Given the description of an element on the screen output the (x, y) to click on. 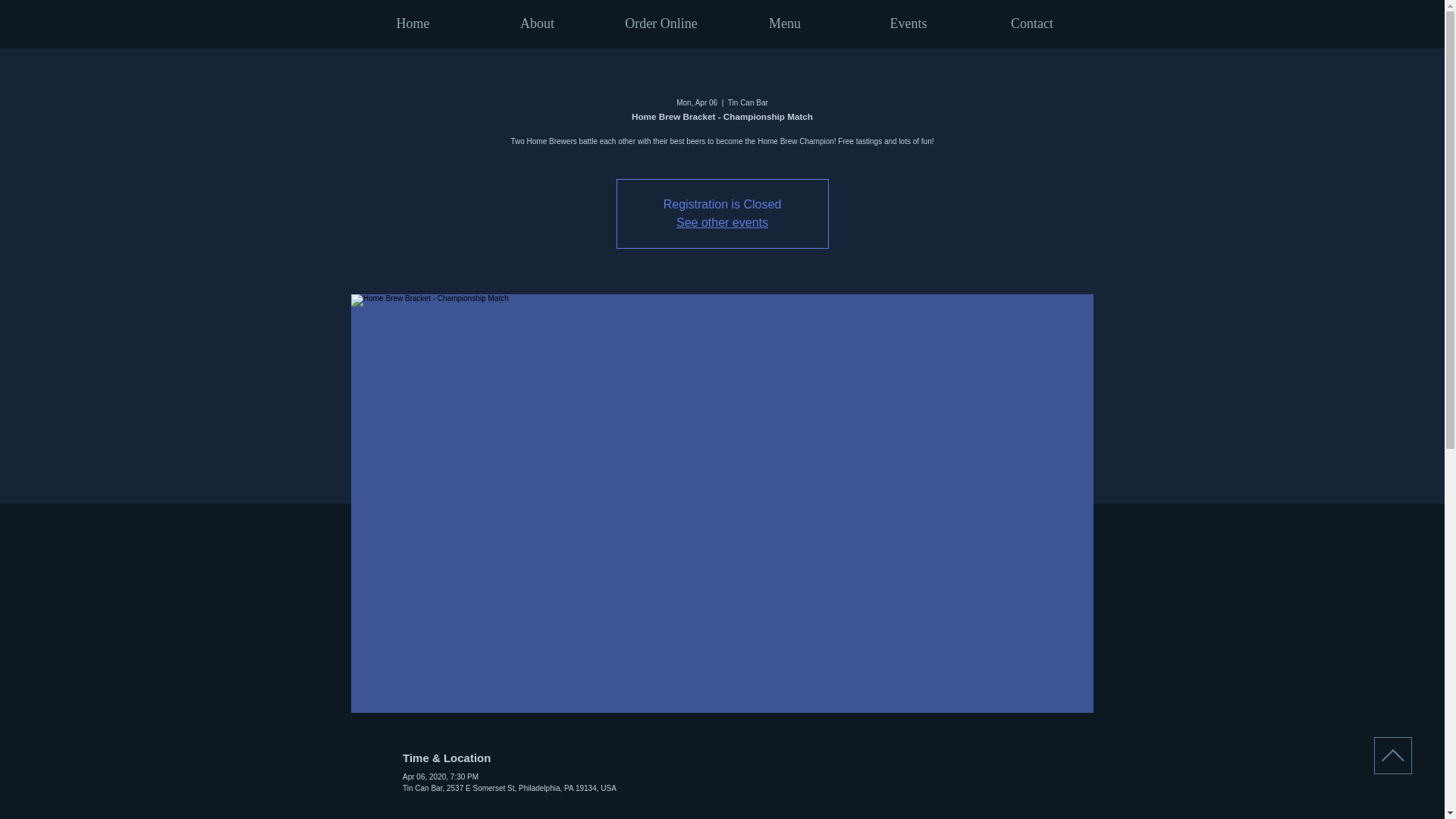
Events (907, 23)
Home (412, 23)
About (536, 23)
Contact (1032, 23)
Order Online (660, 23)
See other events (722, 222)
Menu (785, 23)
